Given the description of an element on the screen output the (x, y) to click on. 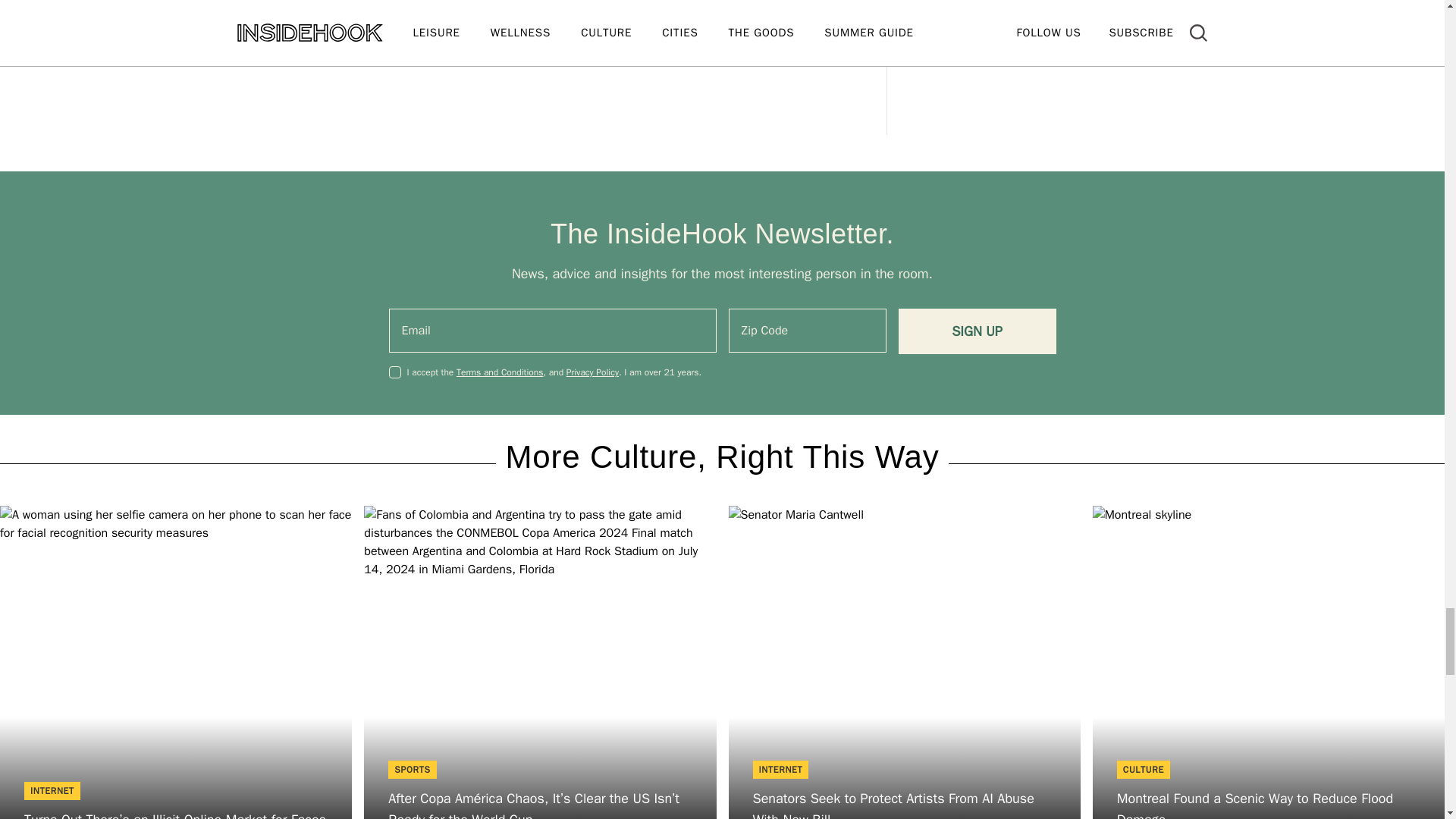
on (394, 372)
